Given the description of an element on the screen output the (x, y) to click on. 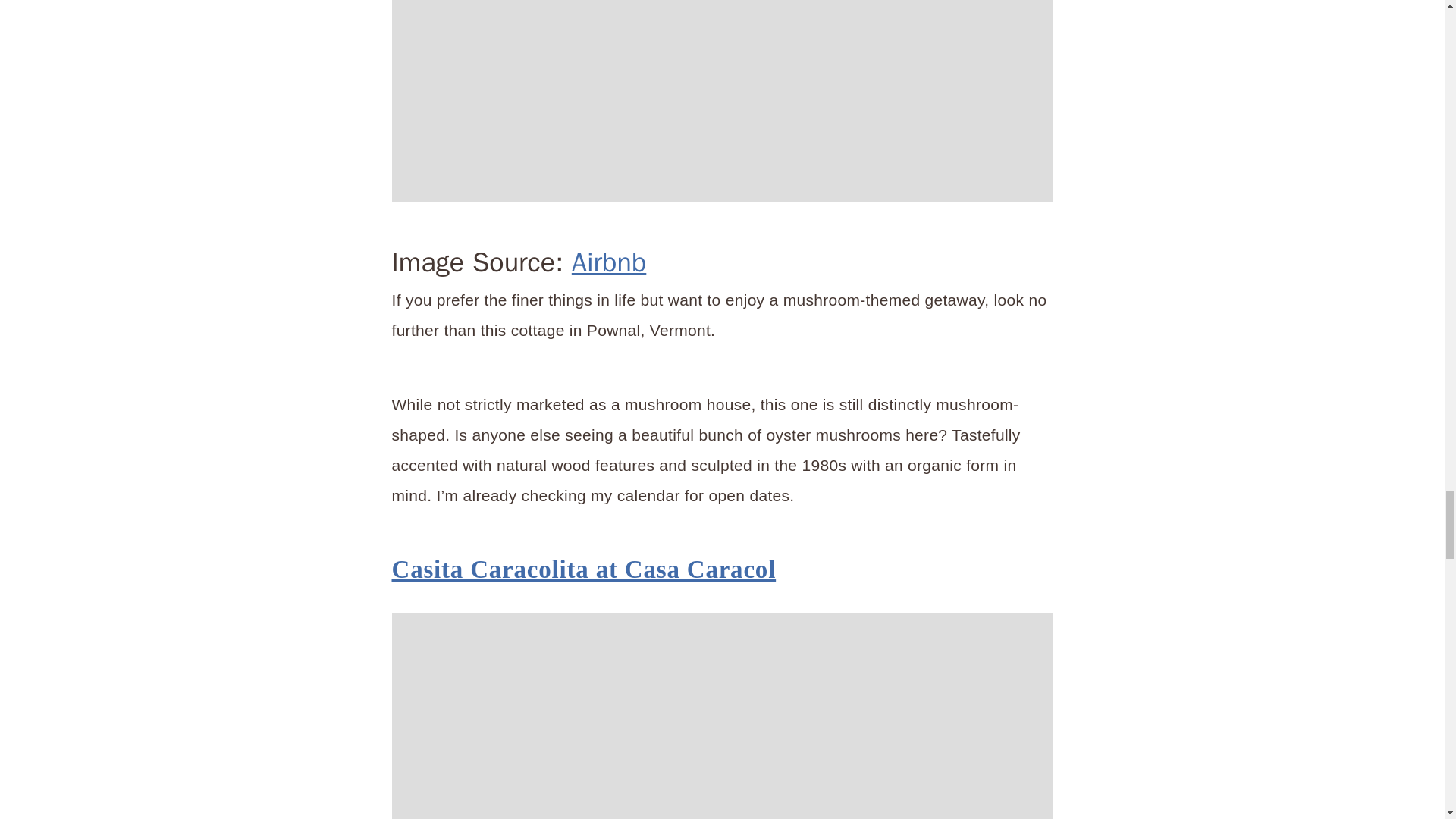
Casita Caracolita at Casa Caracol (583, 569)
Airbnb (609, 262)
Airbnb (721, 101)
